Given the description of an element on the screen output the (x, y) to click on. 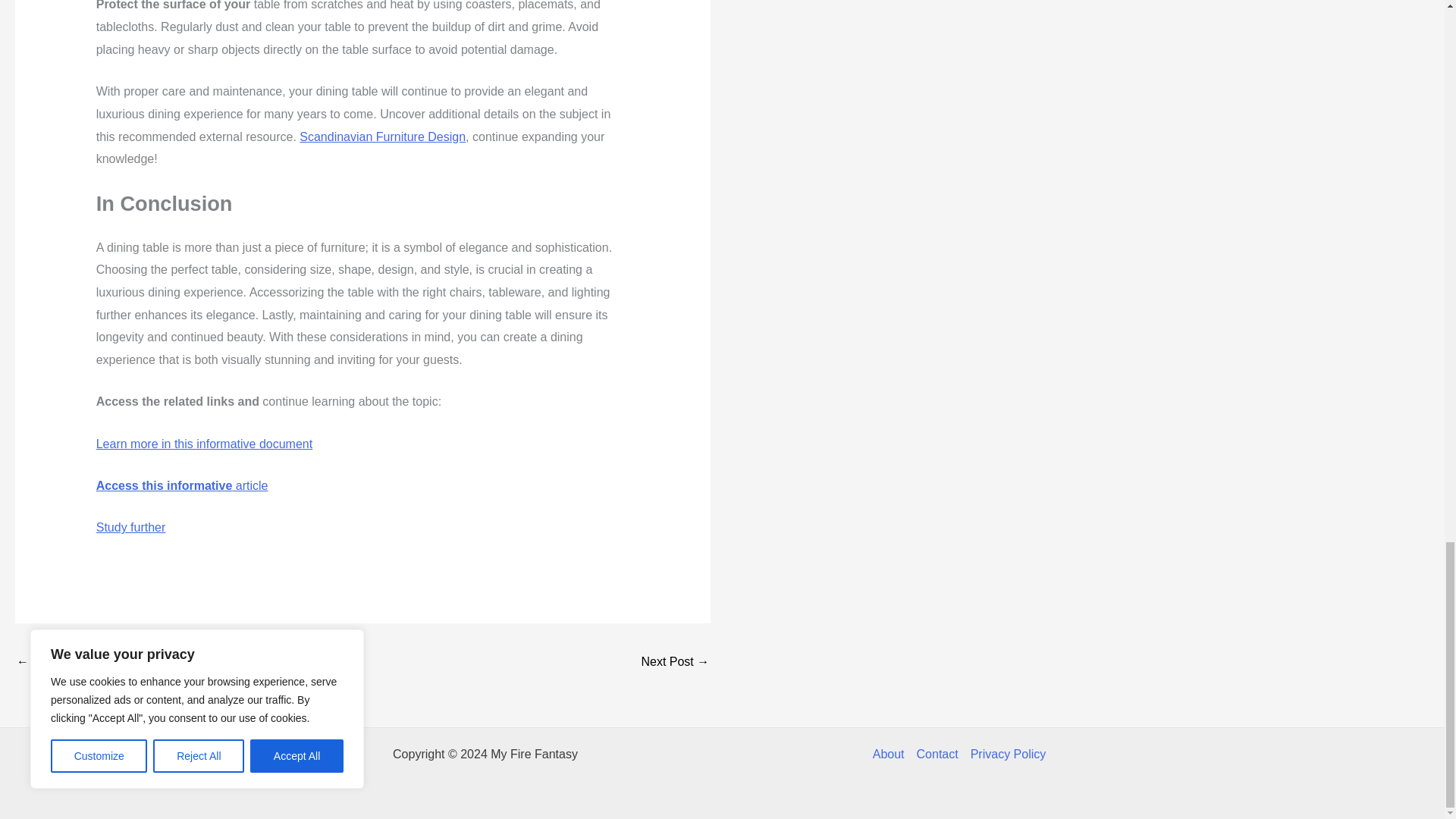
Learn more in this informative document (204, 443)
Acquisition details of the site for Lentoria Condominium (674, 663)
Taking Control of Your Financial Situation (61, 663)
Access this informative article (181, 485)
Study further (130, 526)
Scandinavian Furniture Design (382, 136)
